Given the description of an element on the screen output the (x, y) to click on. 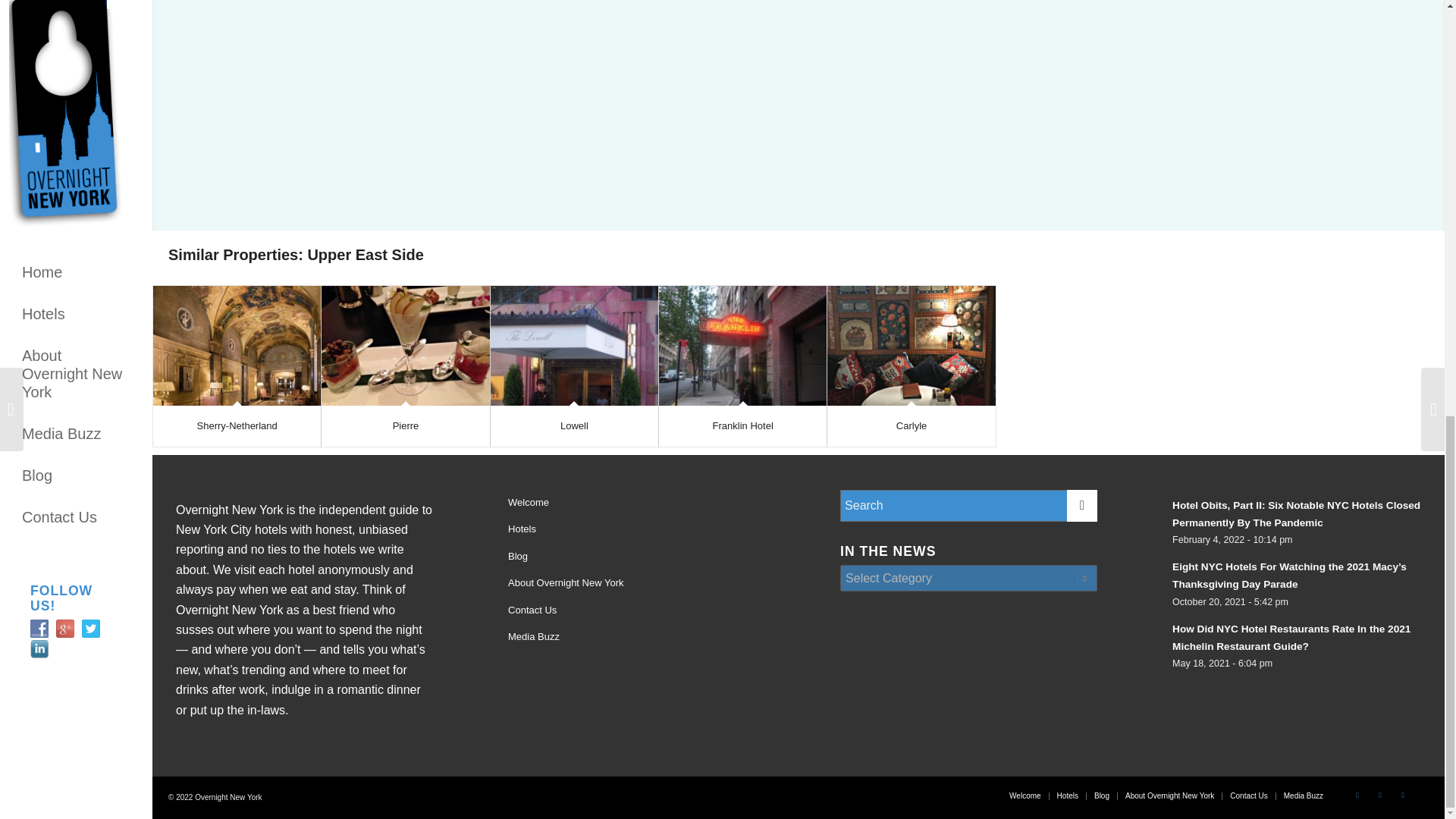
Sherry-Netherland (237, 425)
Pierre (406, 425)
